Given the description of an element on the screen output the (x, y) to click on. 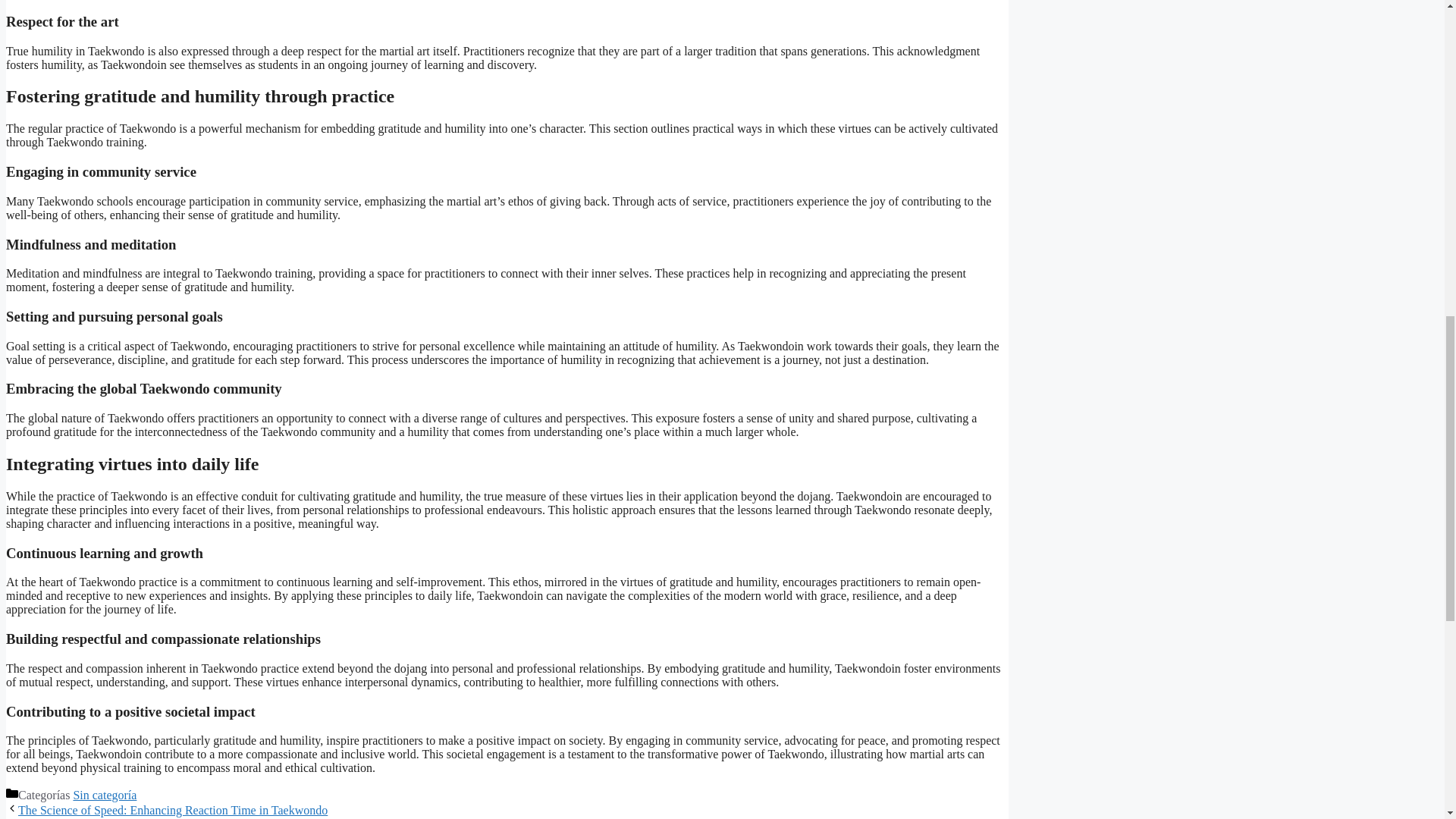
The Science of Speed: Enhancing Reaction Time in Taekwondo (172, 809)
